Given the description of an element on the screen output the (x, y) to click on. 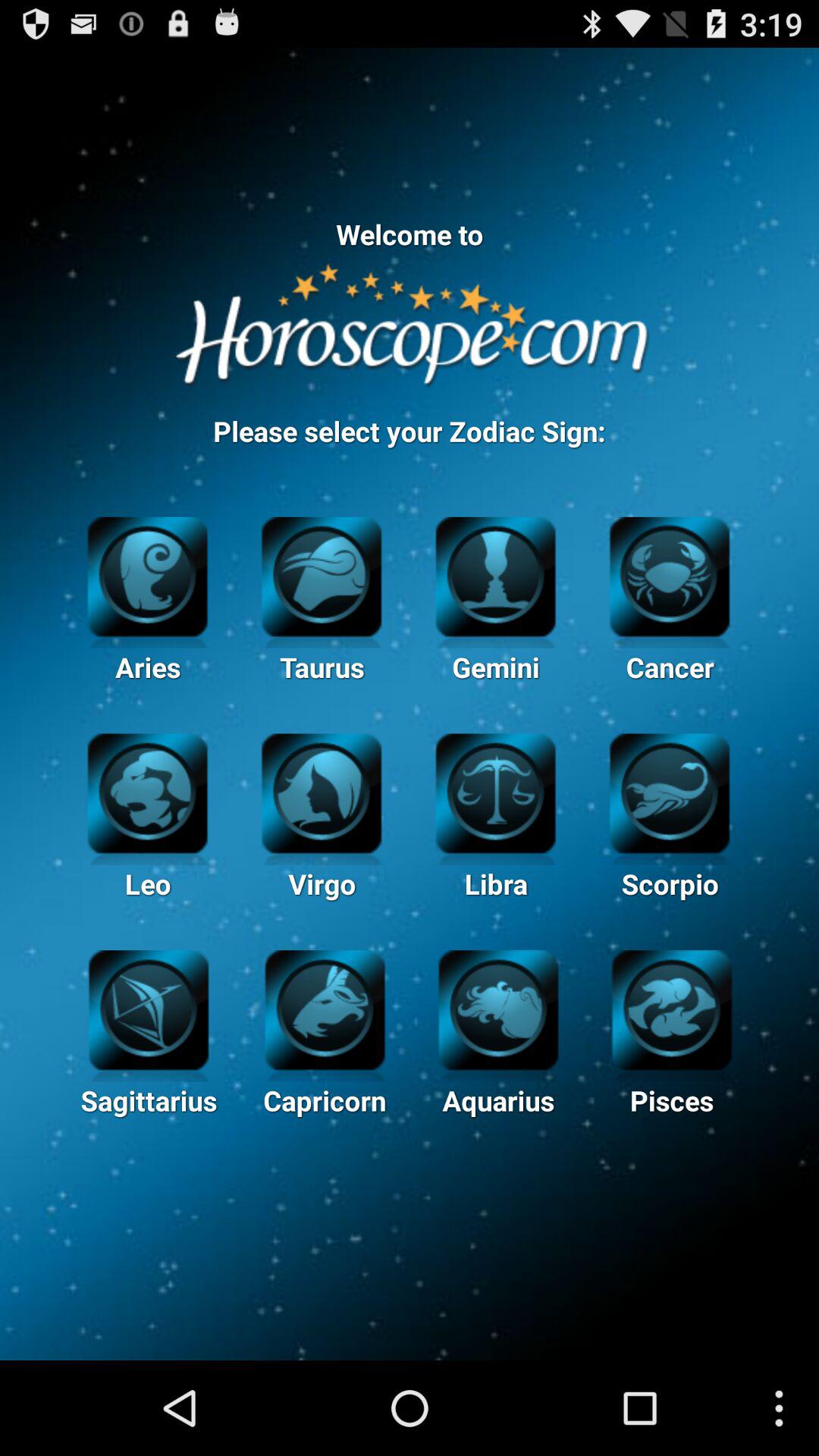
pisces zodiac sign (671, 1007)
